Given the description of an element on the screen output the (x, y) to click on. 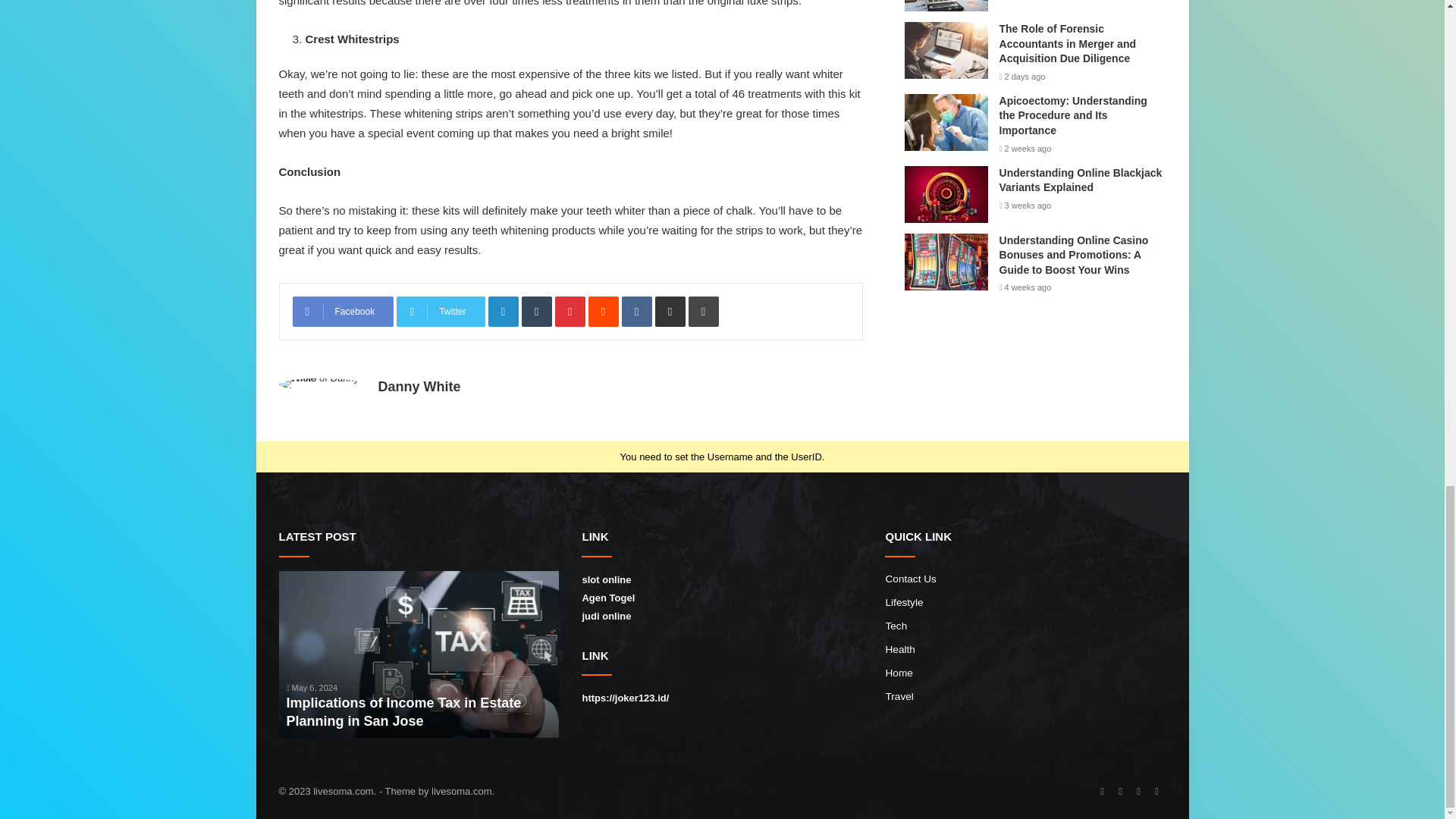
Facebook (343, 311)
Reddit (603, 311)
Danny White (418, 386)
Pinterest (569, 311)
Print (703, 311)
Share via Email (670, 311)
Twitter (440, 311)
LinkedIn (502, 311)
Tumblr (536, 311)
VKontakte (636, 311)
